Given the description of an element on the screen output the (x, y) to click on. 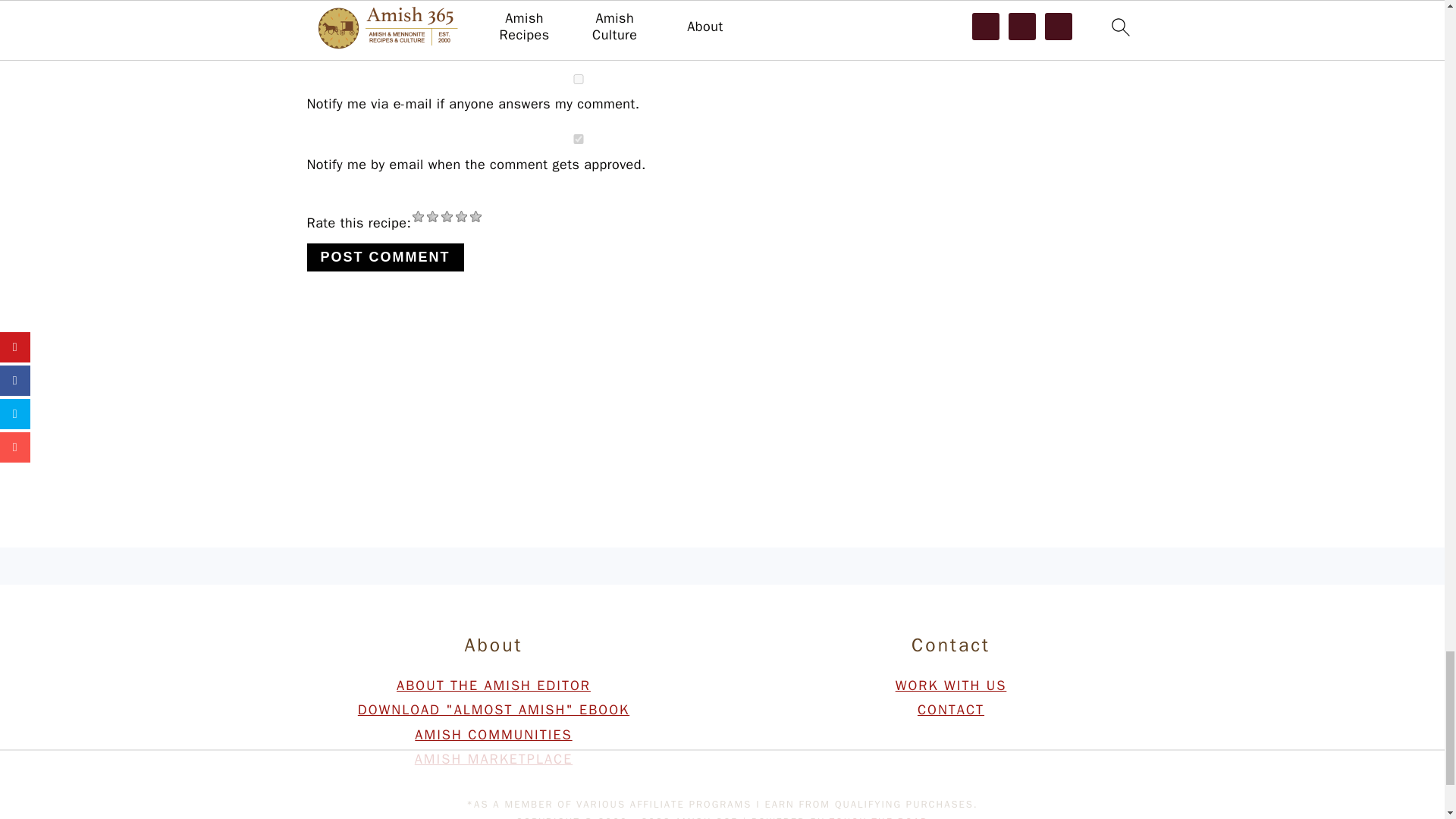
1 (576, 139)
yes (582, 18)
Post Comment (384, 257)
on (576, 79)
